Given the description of an element on the screen output the (x, y) to click on. 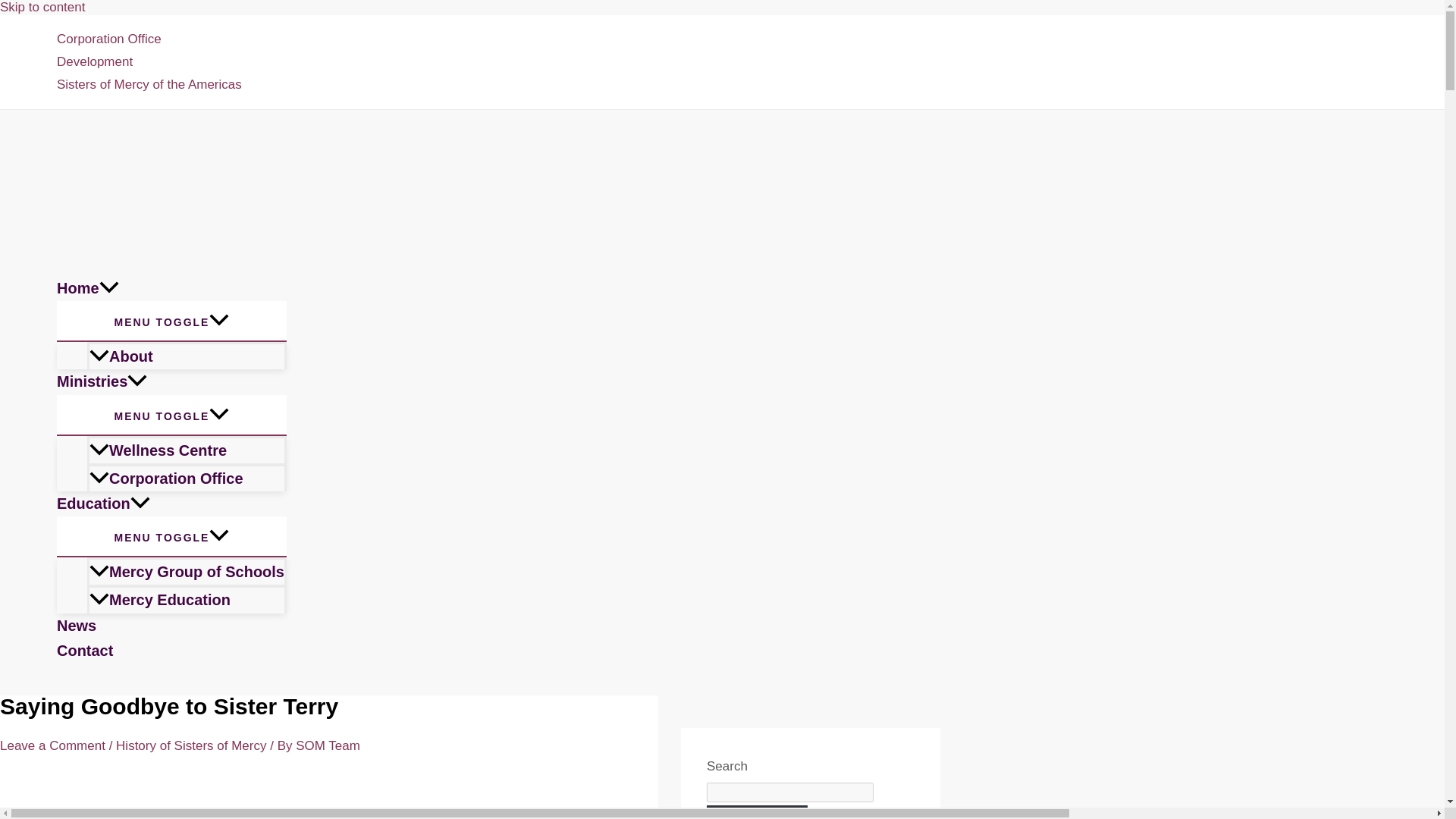
Corporation Office (148, 38)
Ministries (171, 381)
Skip to content (42, 7)
Education (171, 503)
View all posts by SOM Team (327, 745)
MENU TOGGLE (171, 320)
About (186, 355)
MENU TOGGLE (171, 414)
Sisters of Mercy of the Americas (148, 84)
Skip to content (42, 7)
